Given the description of an element on the screen output the (x, y) to click on. 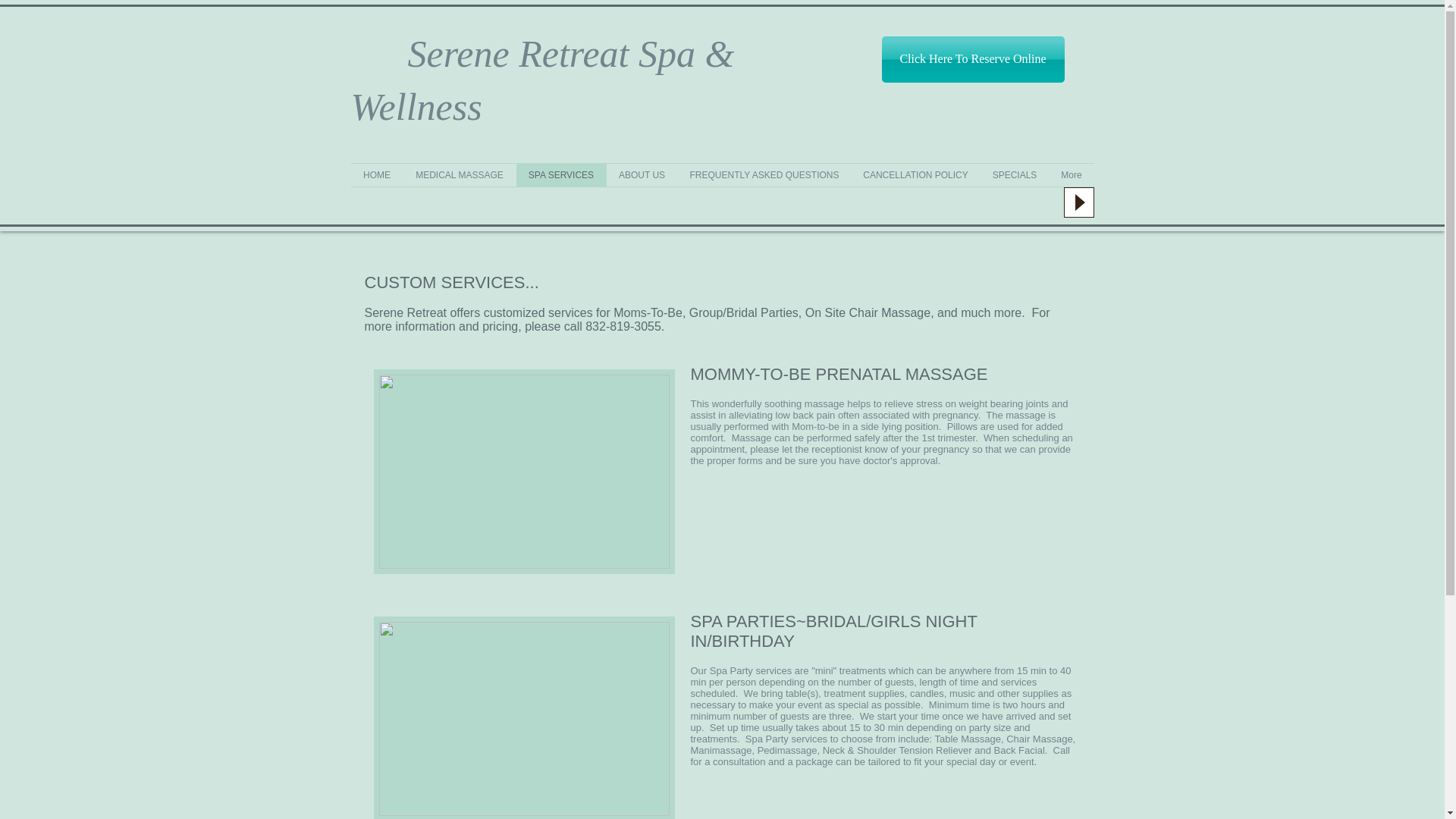
HOME (376, 174)
ABOUT US (642, 174)
FREQUENTLY ASKED QUESTIONS (764, 174)
SPA SERVICES (560, 174)
spapartypic.jpg (523, 717)
Click Here To Reserve Online (972, 59)
CANCELLATION POLICY (914, 174)
MEDICAL MASSAGE (459, 174)
SPECIALS (1013, 174)
Expectant Couple (523, 471)
